Given the description of an element on the screen output the (x, y) to click on. 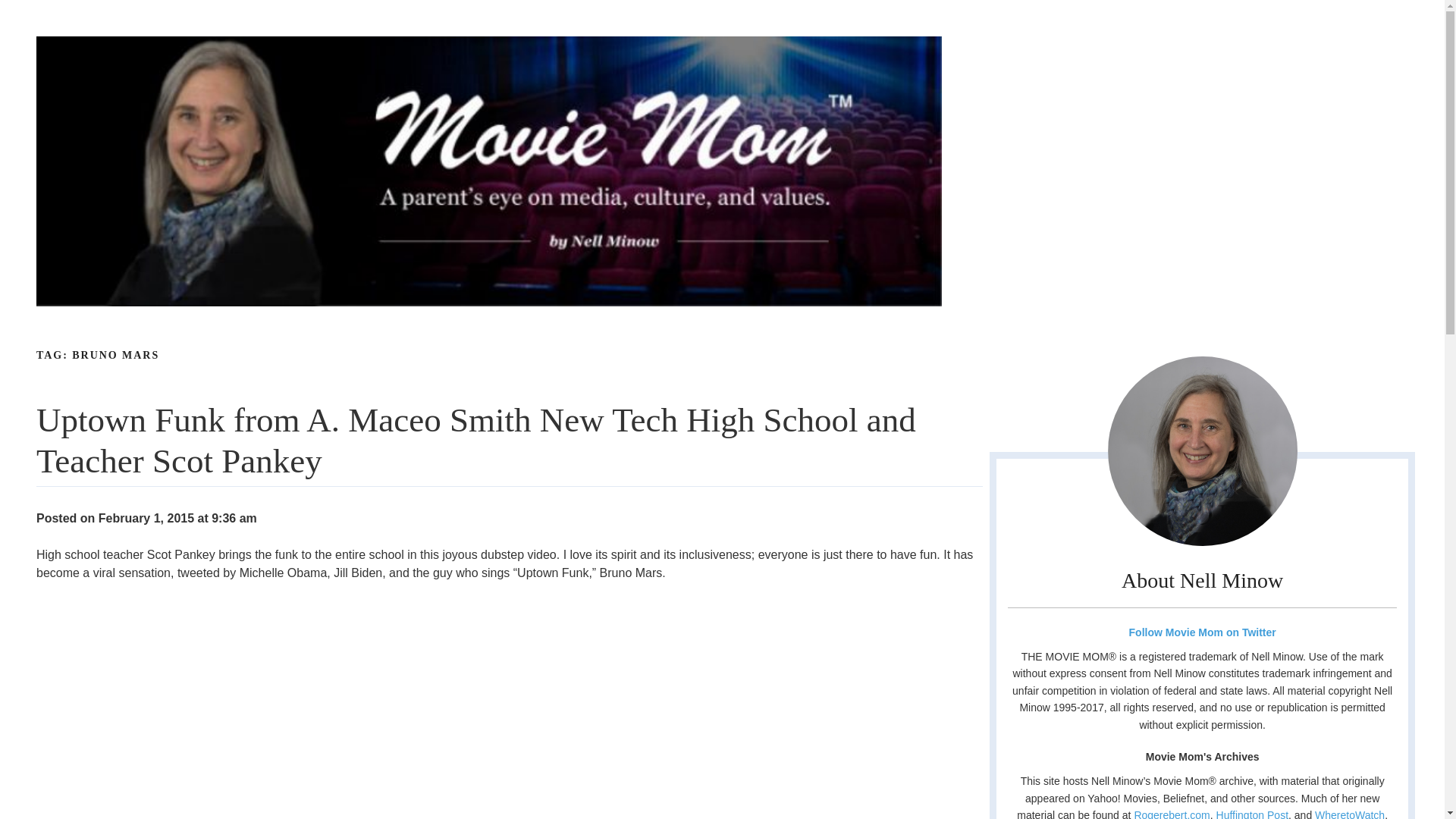
Follow Movie Mom on Twitter (1201, 632)
WheretoWatch (1349, 814)
Huffington Post (1251, 814)
Rogerebert.com (1171, 814)
